Given the description of an element on the screen output the (x, y) to click on. 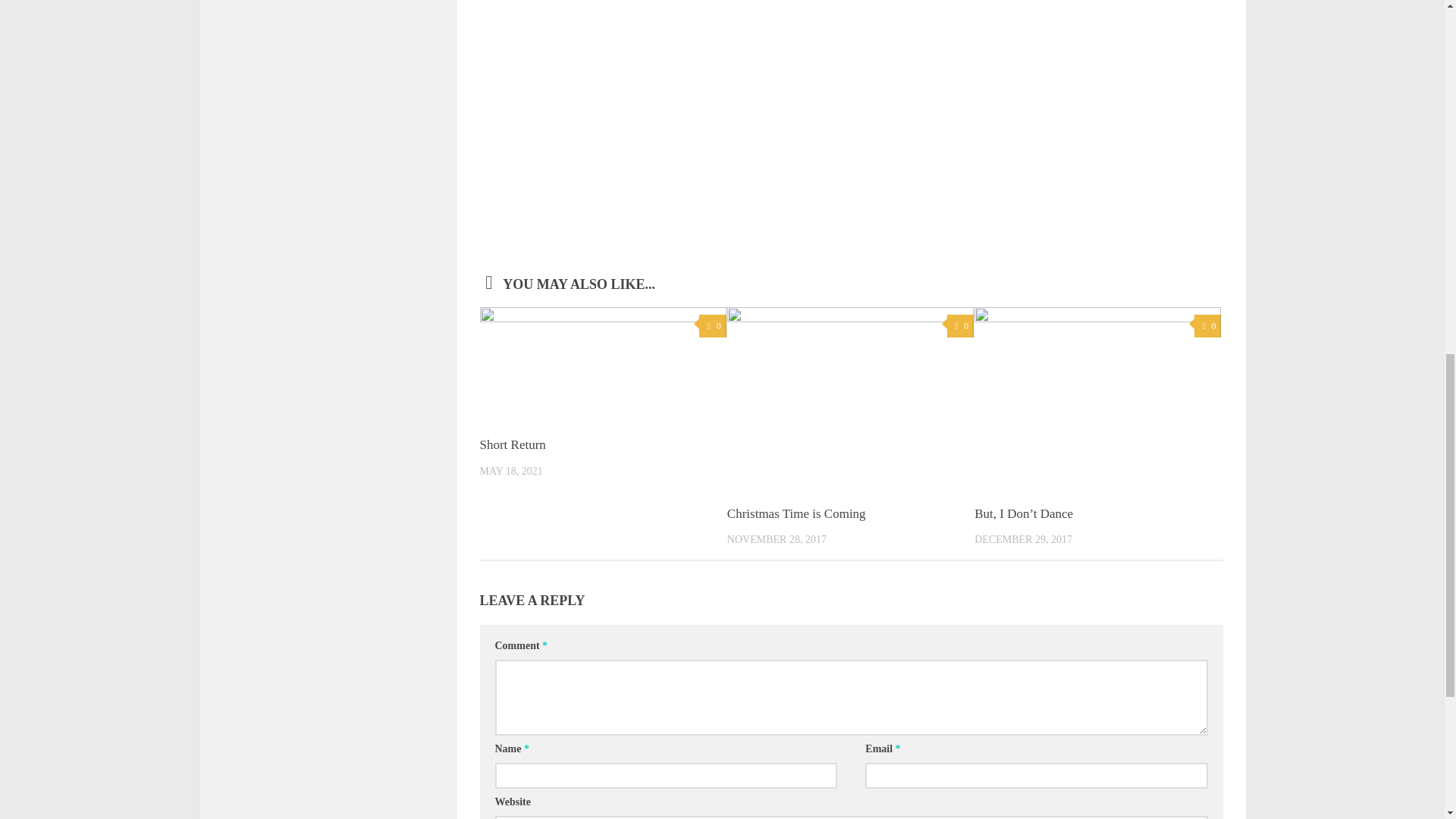
0 (1207, 326)
0 (711, 326)
Short Return (511, 444)
Christmas Time is Coming (796, 513)
0 (960, 326)
